Given the description of an element on the screen output the (x, y) to click on. 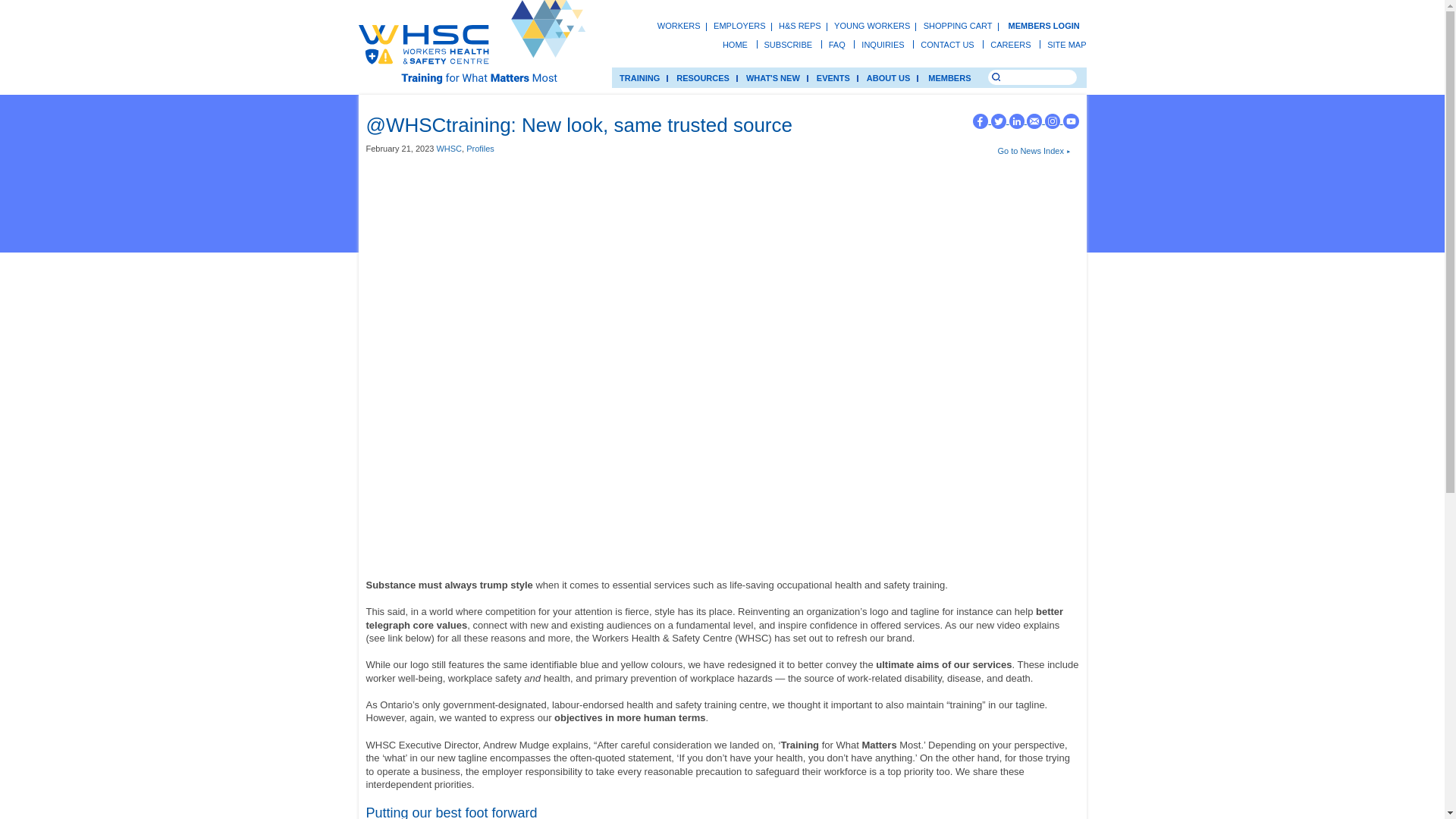
CONTACT US (947, 44)
TRAINING (639, 77)
FAQ (836, 44)
MEMBERS LOGIN (1043, 25)
YOUNG WORKERS (872, 25)
CAREERS (1010, 44)
SHOPPING CART (957, 25)
SUBSCRIBE (788, 44)
INQUIRIES (882, 44)
